Given the description of an element on the screen output the (x, y) to click on. 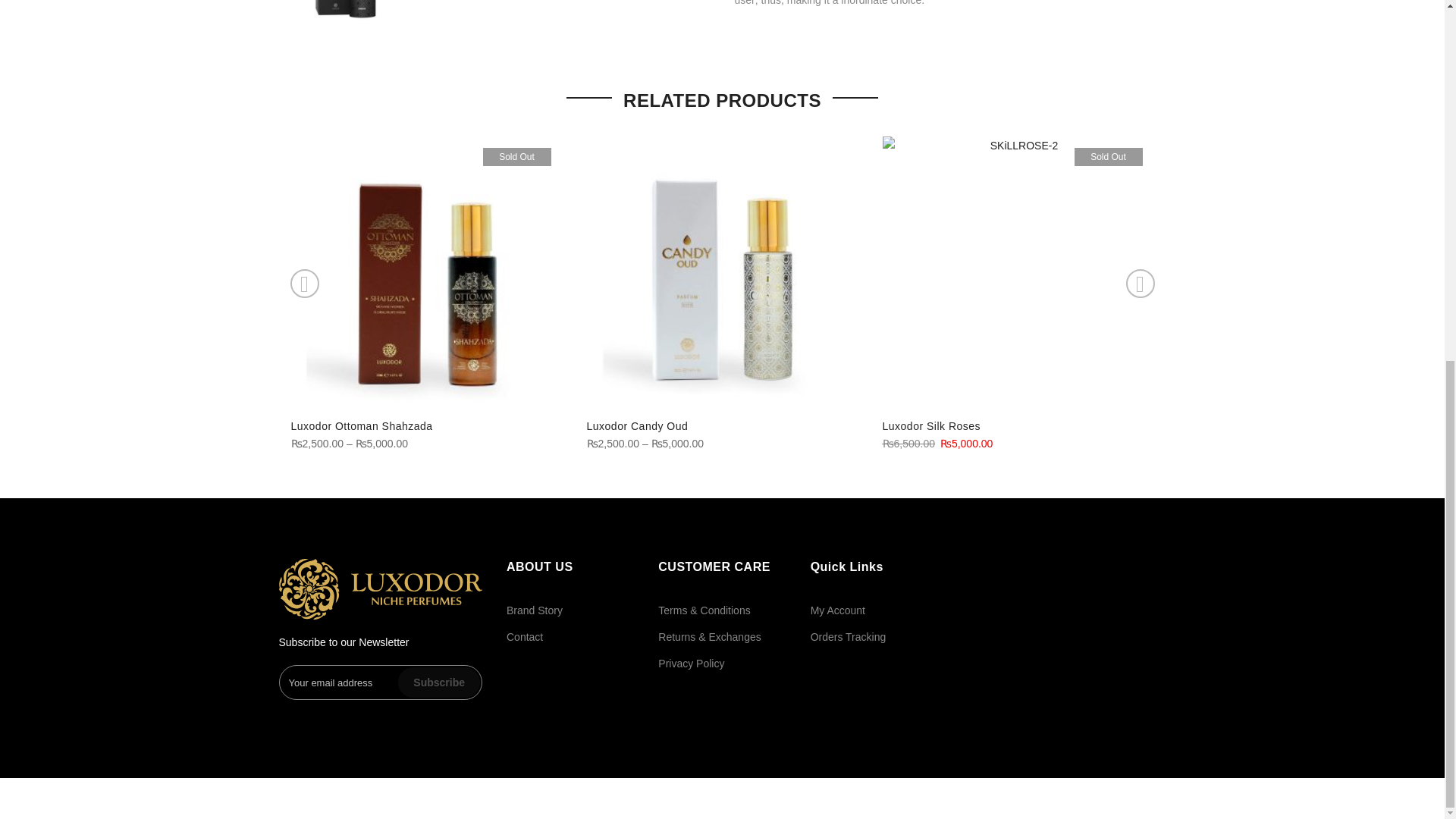
Candy-OUD (722, 271)
WILD (344, 13)
Subscribe (438, 682)
Ottoman-Shahzada-Small (426, 271)
